Given the description of an element on the screen output the (x, y) to click on. 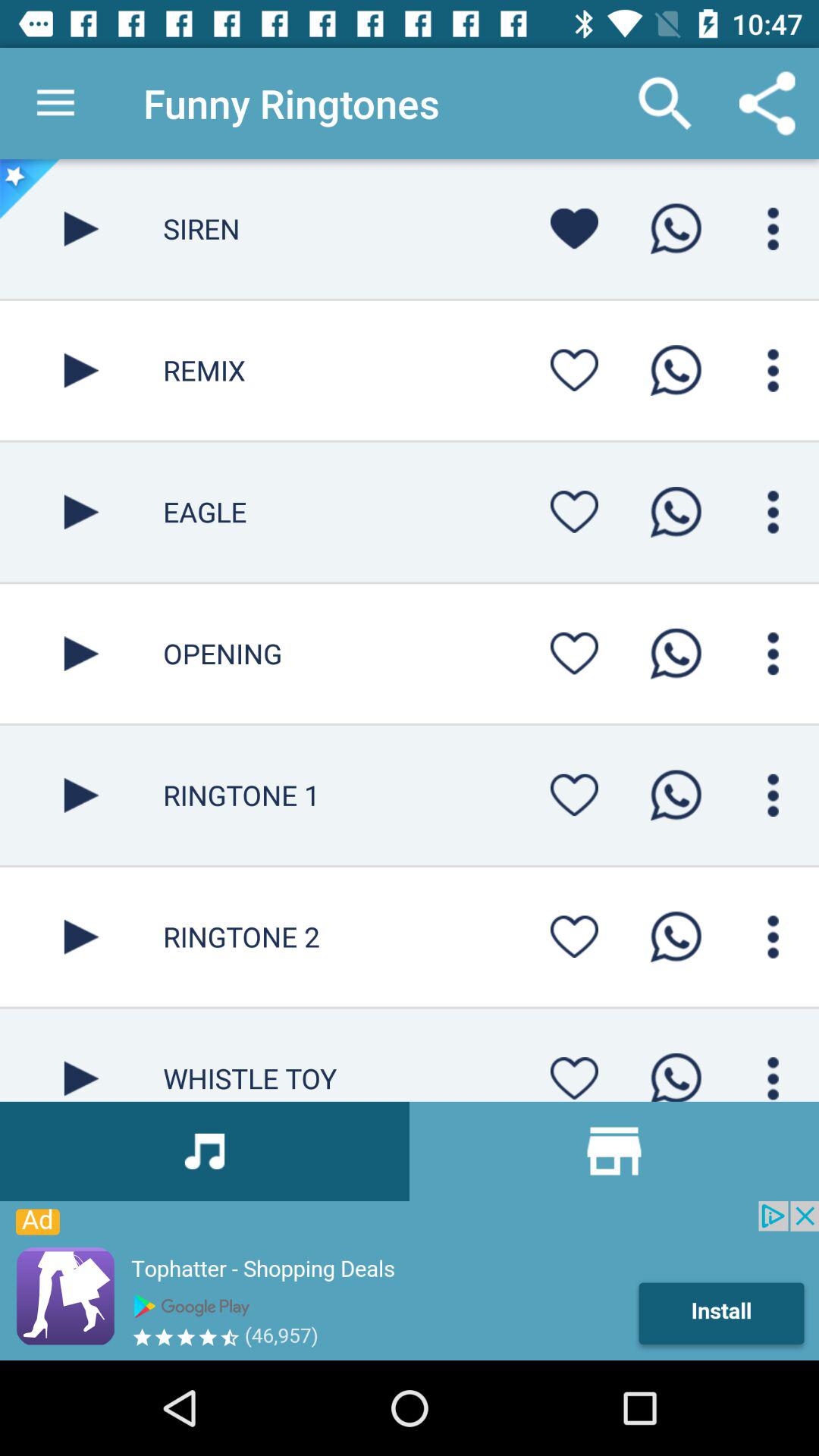
toggle like button (574, 369)
